Given the description of an element on the screen output the (x, y) to click on. 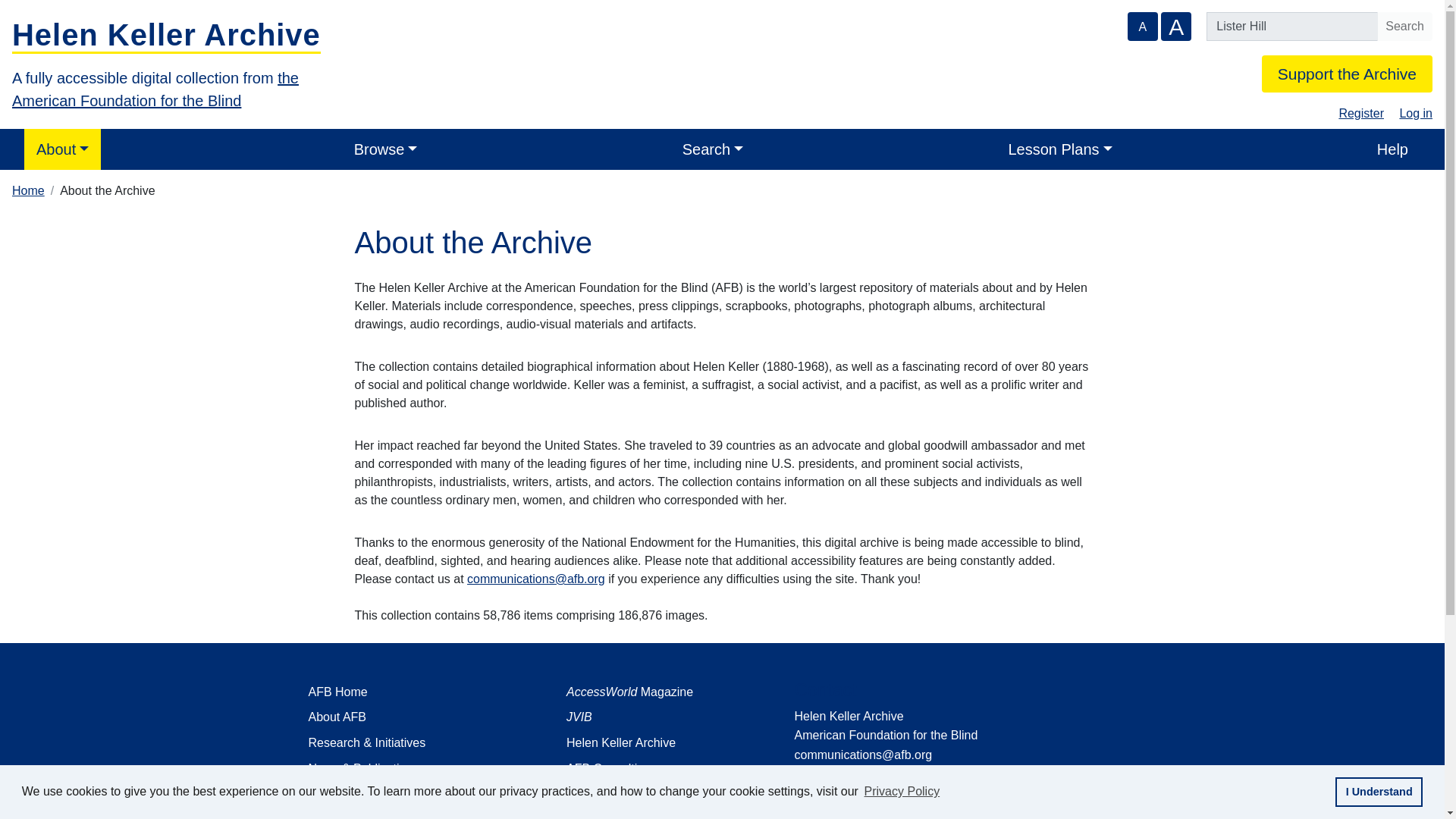
Search (1404, 26)
the American Foundation for the Blind (154, 88)
Lister Hill (1292, 26)
Lesson Plans (1059, 148)
Search (1404, 26)
Help (1393, 148)
A (1141, 26)
I Understand (1378, 791)
Register (1361, 113)
About AFB (412, 718)
Take Action! (412, 812)
About (62, 148)
Browse (385, 148)
Support the Archive (1347, 73)
AFB Home (412, 692)
